Given the description of an element on the screen output the (x, y) to click on. 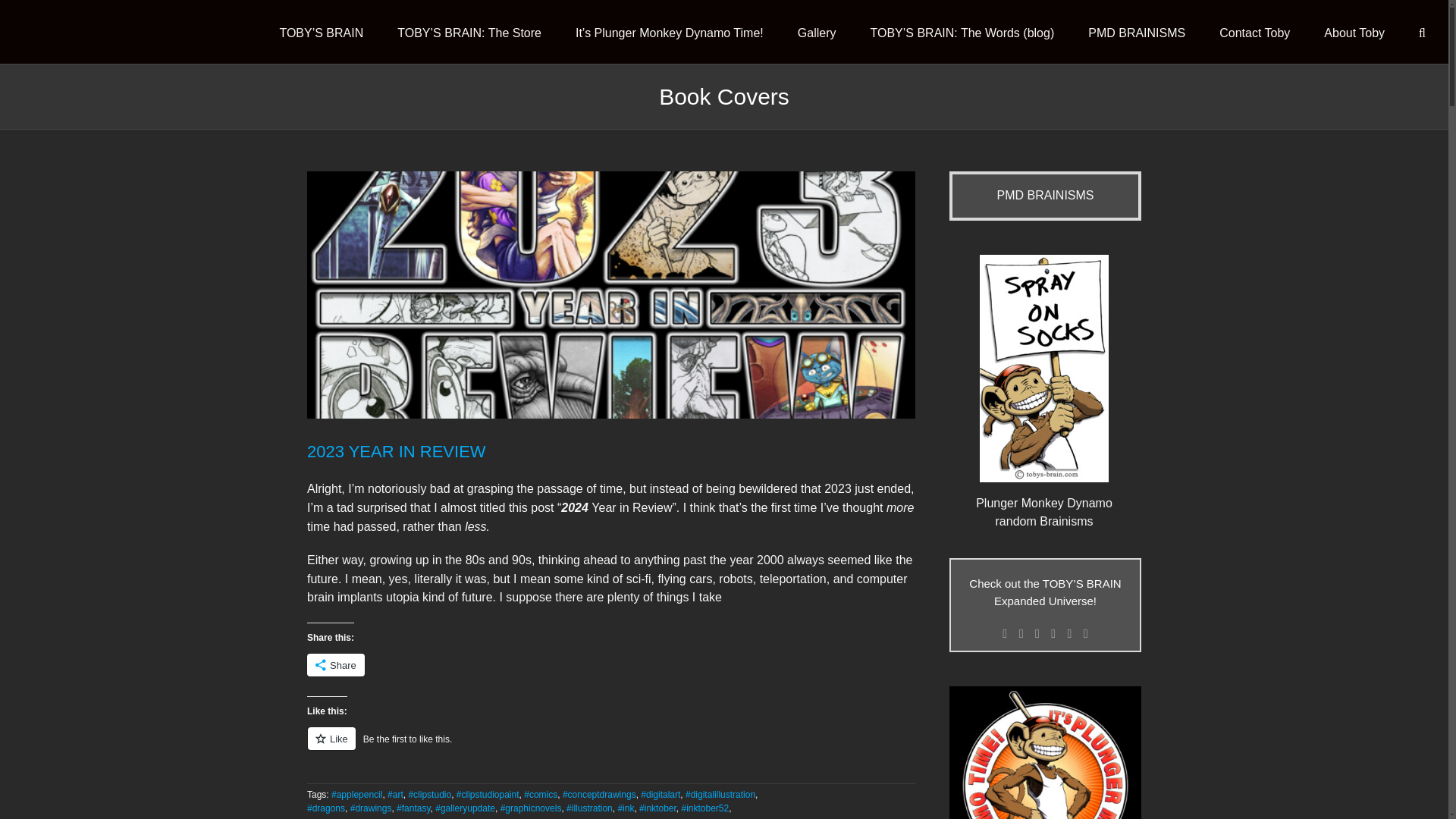
PMD BRAINISMS (1136, 31)
About Toby (1353, 31)
Like or Reblog (611, 747)
Contact Toby (1255, 31)
